Given the description of an element on the screen output the (x, y) to click on. 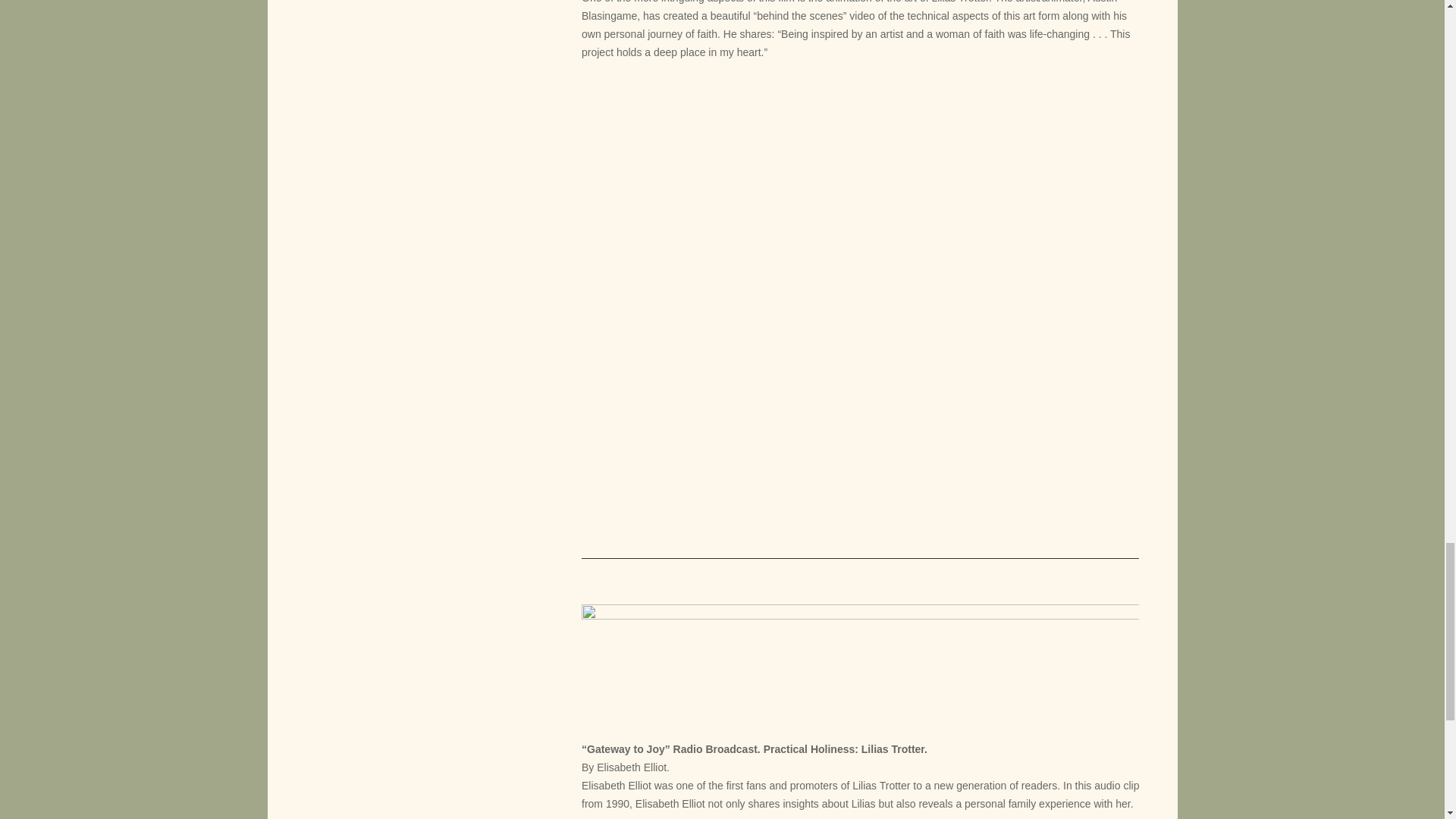
elisabeth-elliot-gateway (859, 666)
